Given the description of an element on the screen output the (x, y) to click on. 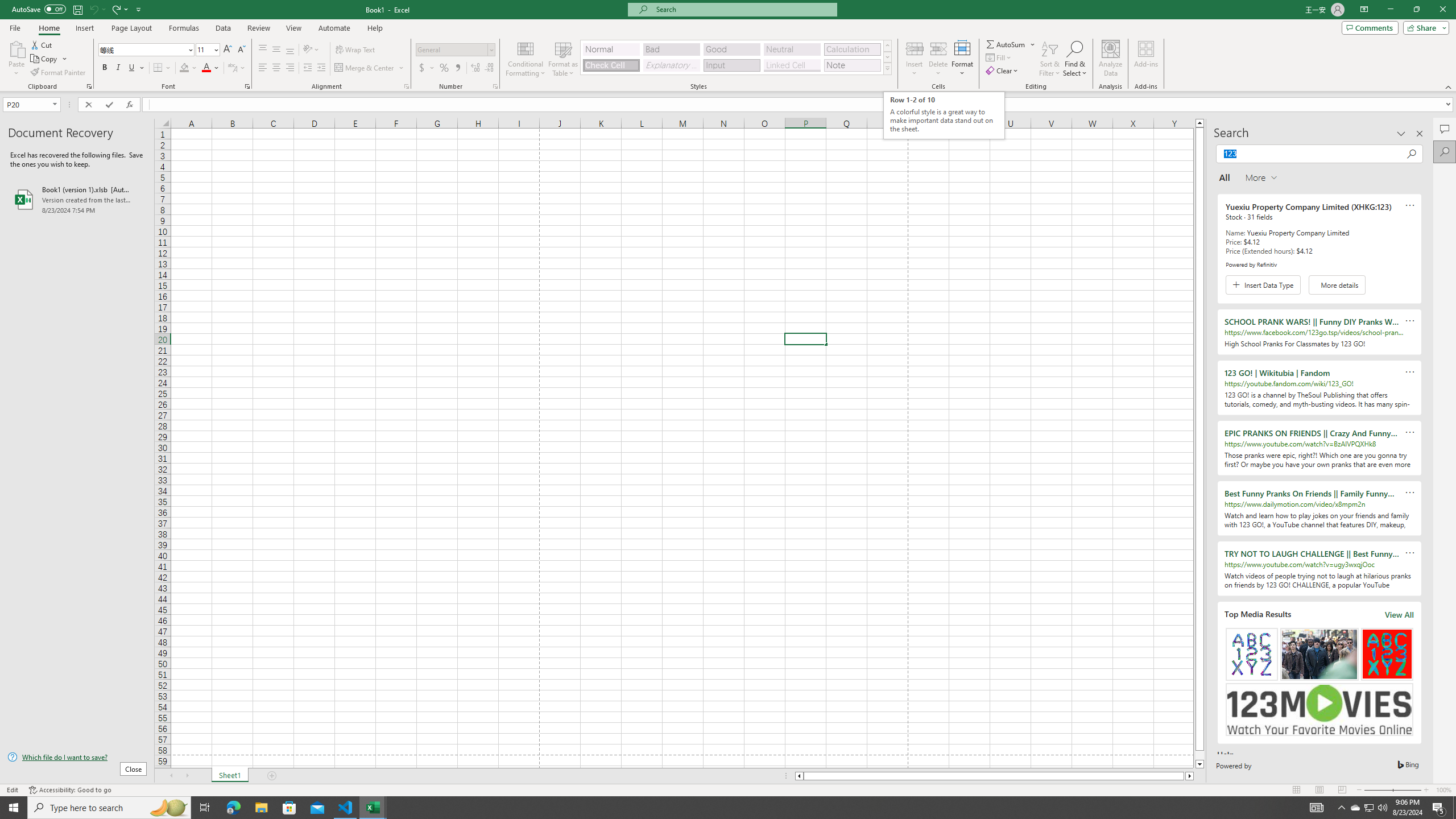
Increase Decimal (474, 67)
Accounting Number Format (426, 67)
Italic (118, 67)
Percent Style (443, 67)
Sort & Filter (1049, 58)
Format Cell Font (247, 85)
Conditional Formatting (525, 58)
Bold (104, 67)
Explanatory Text (671, 65)
